Given the description of an element on the screen output the (x, y) to click on. 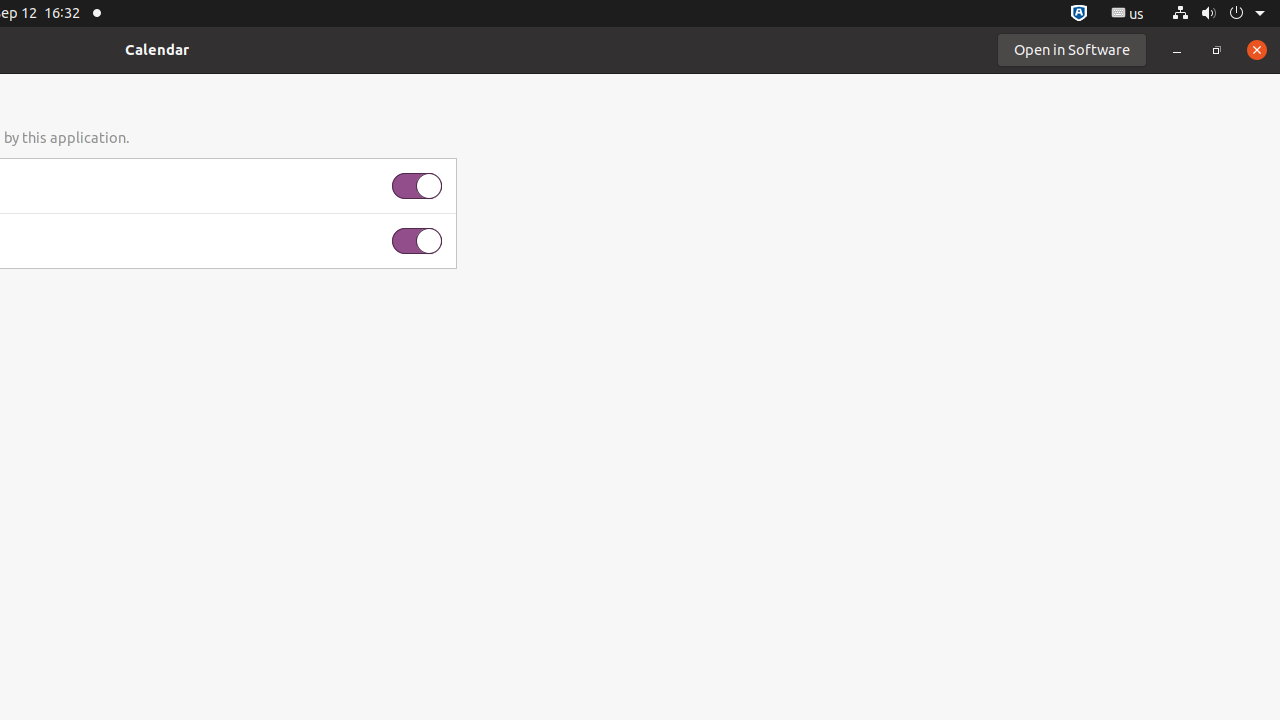
Restore Element type: push-button (1217, 50)
Close Element type: push-button (1257, 50)
Minimize Element type: push-button (1177, 50)
